Given the description of an element on the screen output the (x, y) to click on. 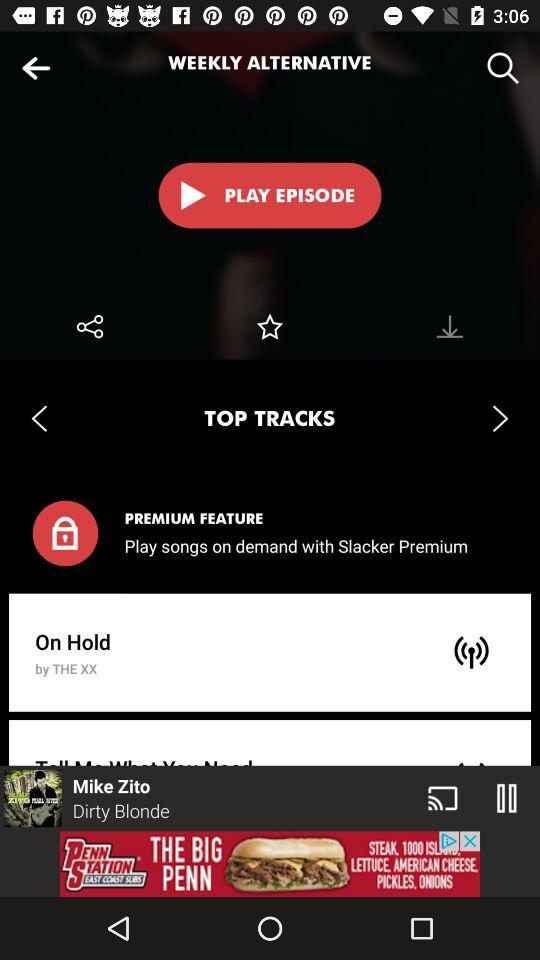
advertisement page (270, 864)
